Given the description of an element on the screen output the (x, y) to click on. 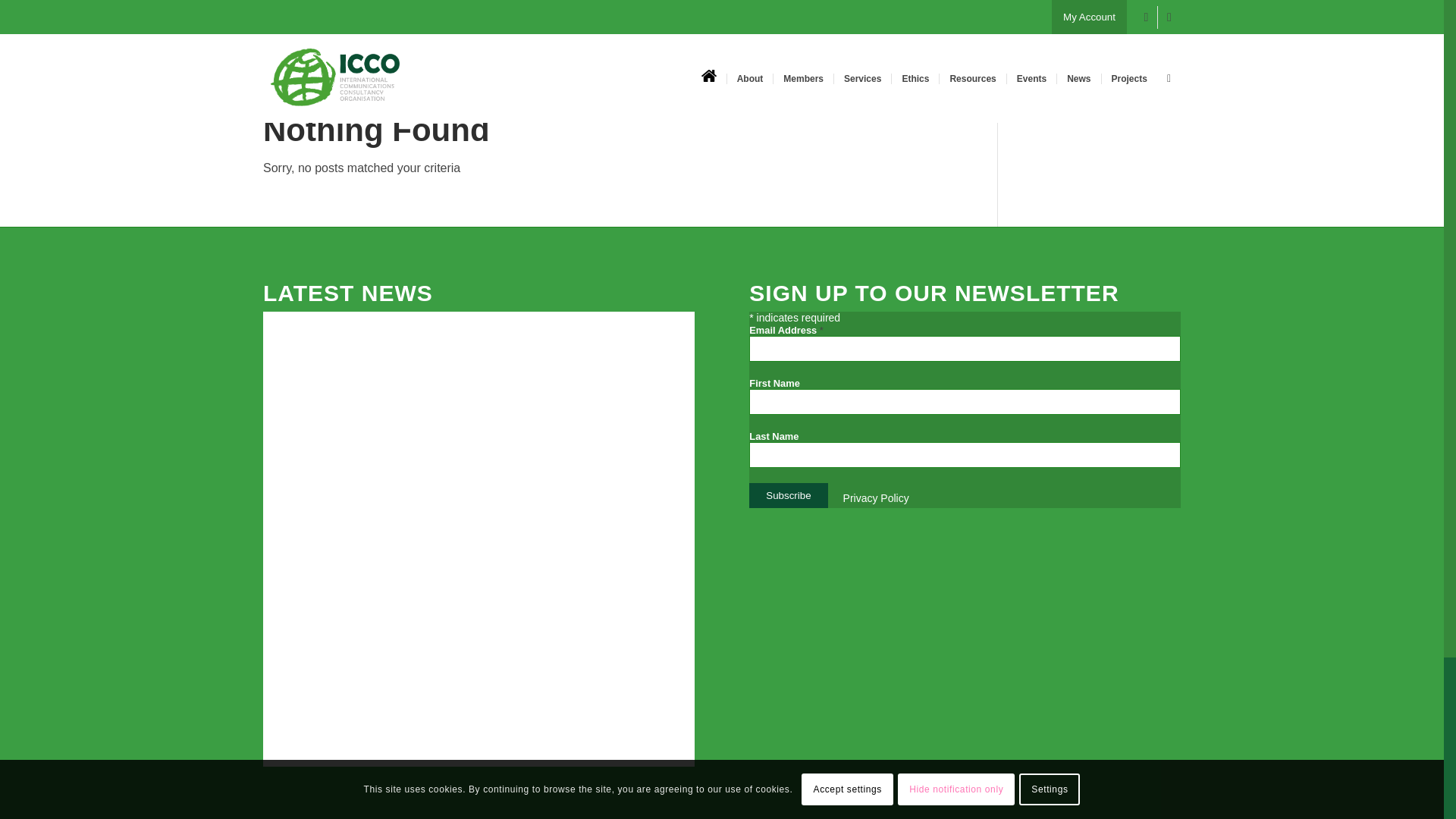
Subscribe (788, 495)
